Given the description of an element on the screen output the (x, y) to click on. 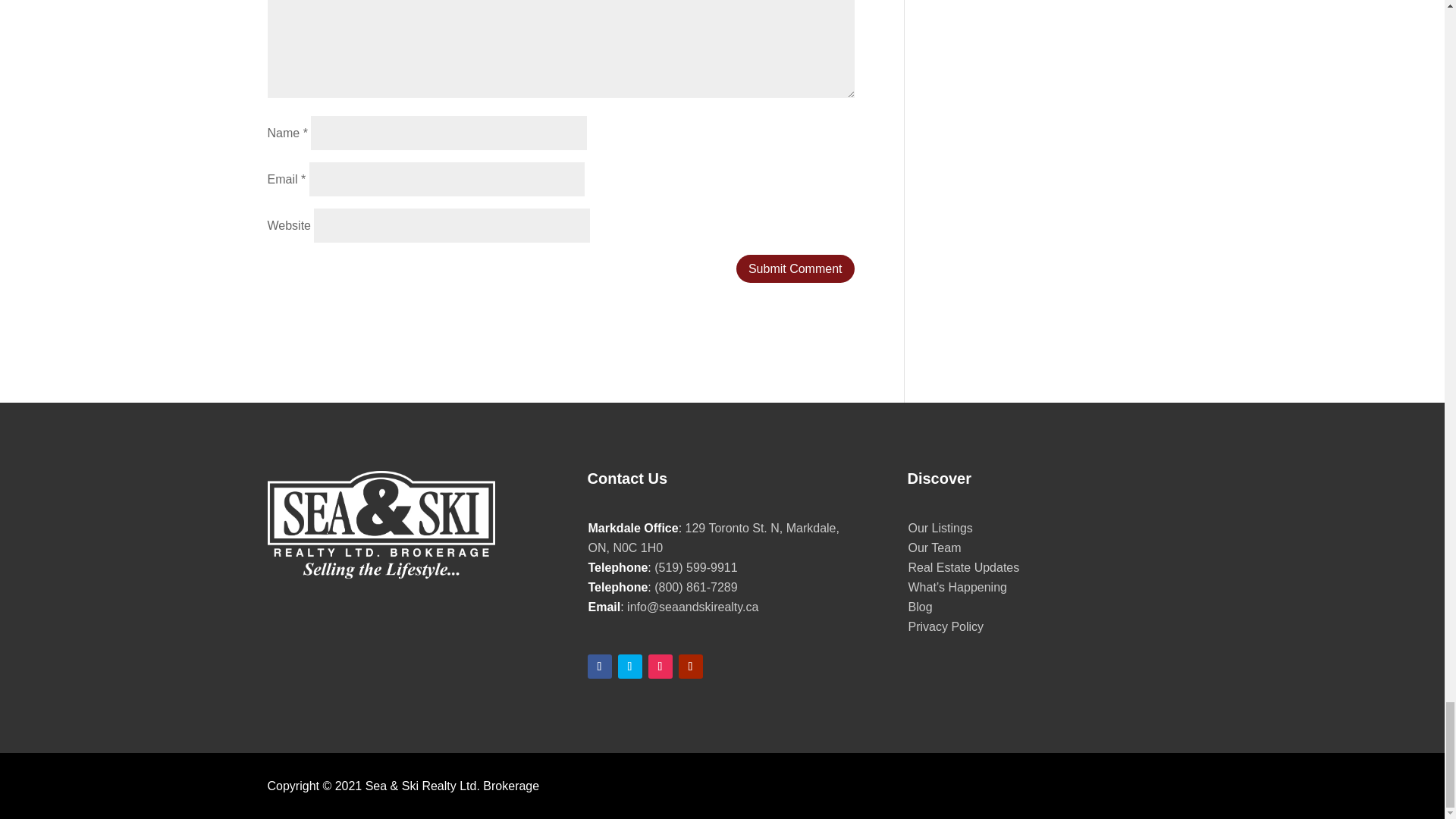
Selling the Lifestyle White and Transparent (380, 526)
Follow on Twitter (629, 666)
Email Us (692, 606)
Follow on Youtube (689, 666)
Follow on Facebook (598, 666)
Google Maps (714, 537)
Submit Comment (795, 268)
Follow on Instagram (659, 666)
